Given the description of an element on the screen output the (x, y) to click on. 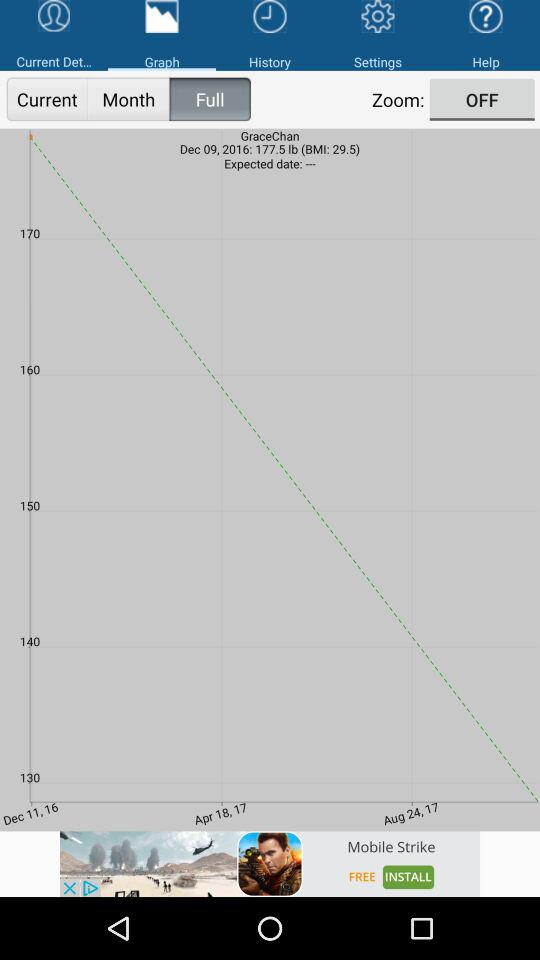
infromation (270, 864)
